Given the description of an element on the screen output the (x, y) to click on. 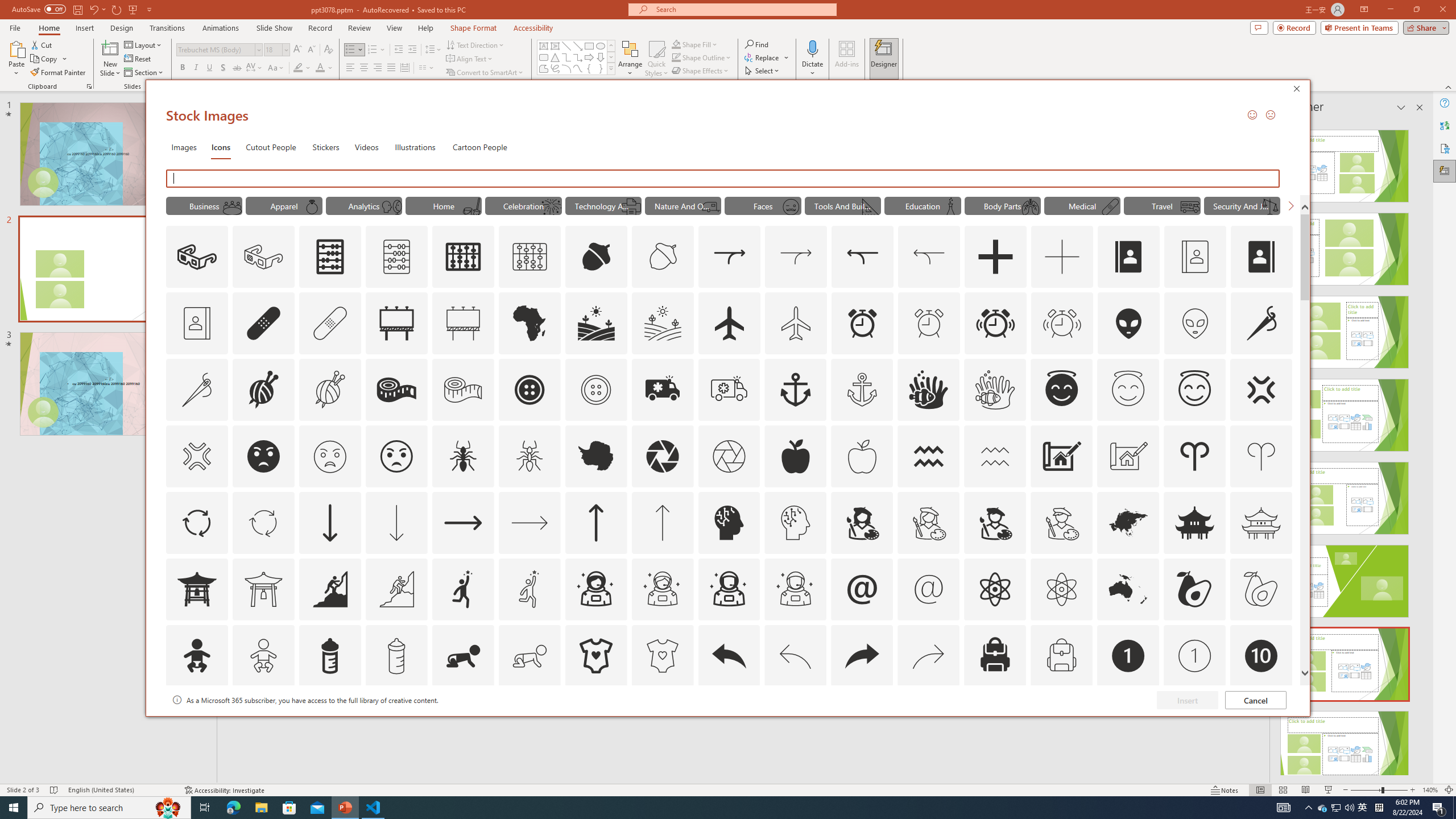
Send a Smile (1251, 114)
AutomationID: Icons_Trailer_M (710, 206)
AutomationID: Icons_AddressBook_LTR_M (1194, 256)
AutomationID: Icons_AlterationsTailoring3 (529, 389)
AutomationID: Icons_Apple (795, 455)
AutomationID: Icons_Badge2 (263, 721)
Justify (390, 67)
